Given the description of an element on the screen output the (x, y) to click on. 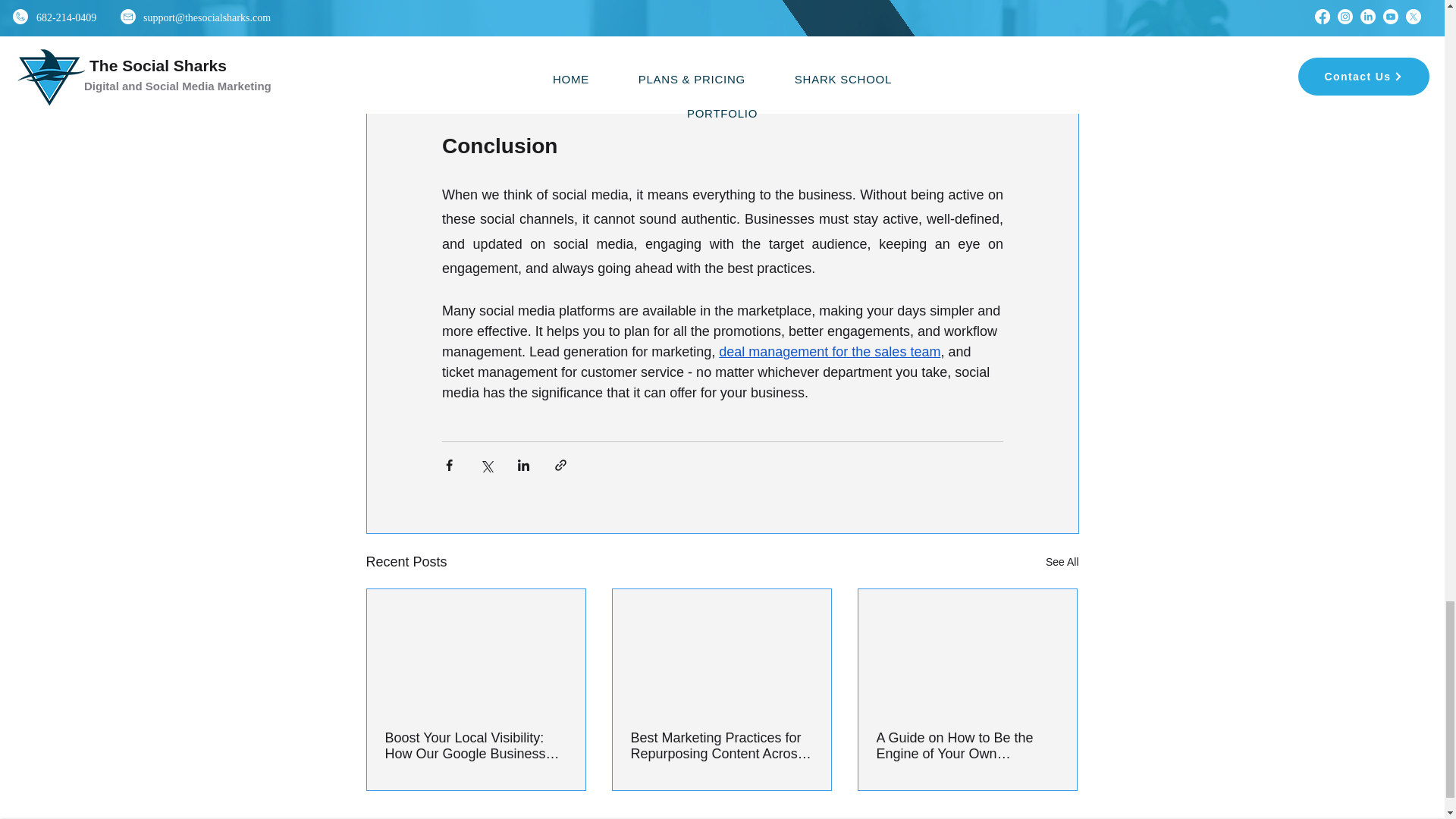
deal management for the sales team (829, 351)
